Given the description of an element on the screen output the (x, y) to click on. 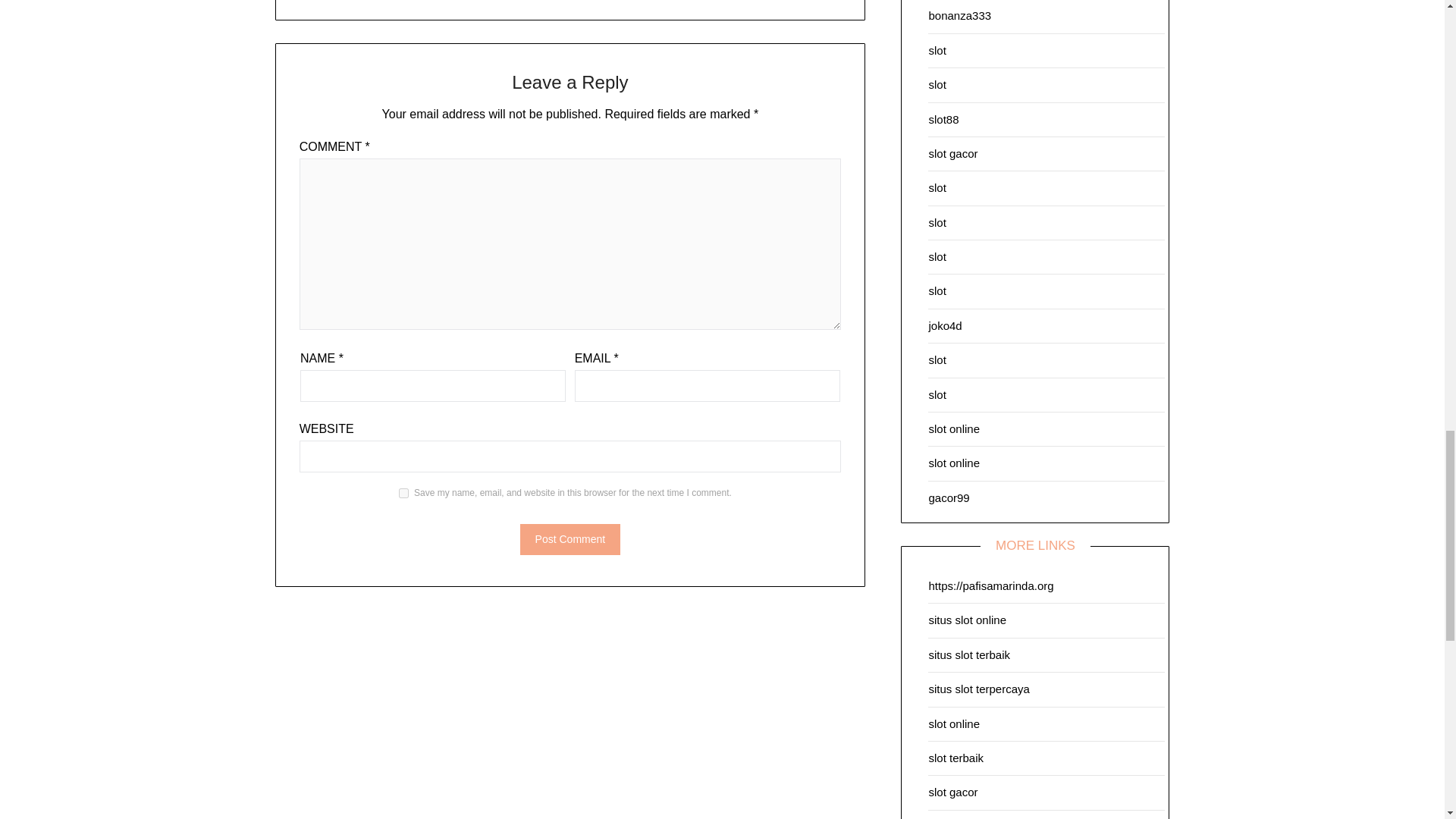
Post Comment (570, 539)
Post Comment (570, 539)
yes (403, 492)
